Given the description of an element on the screen output the (x, y) to click on. 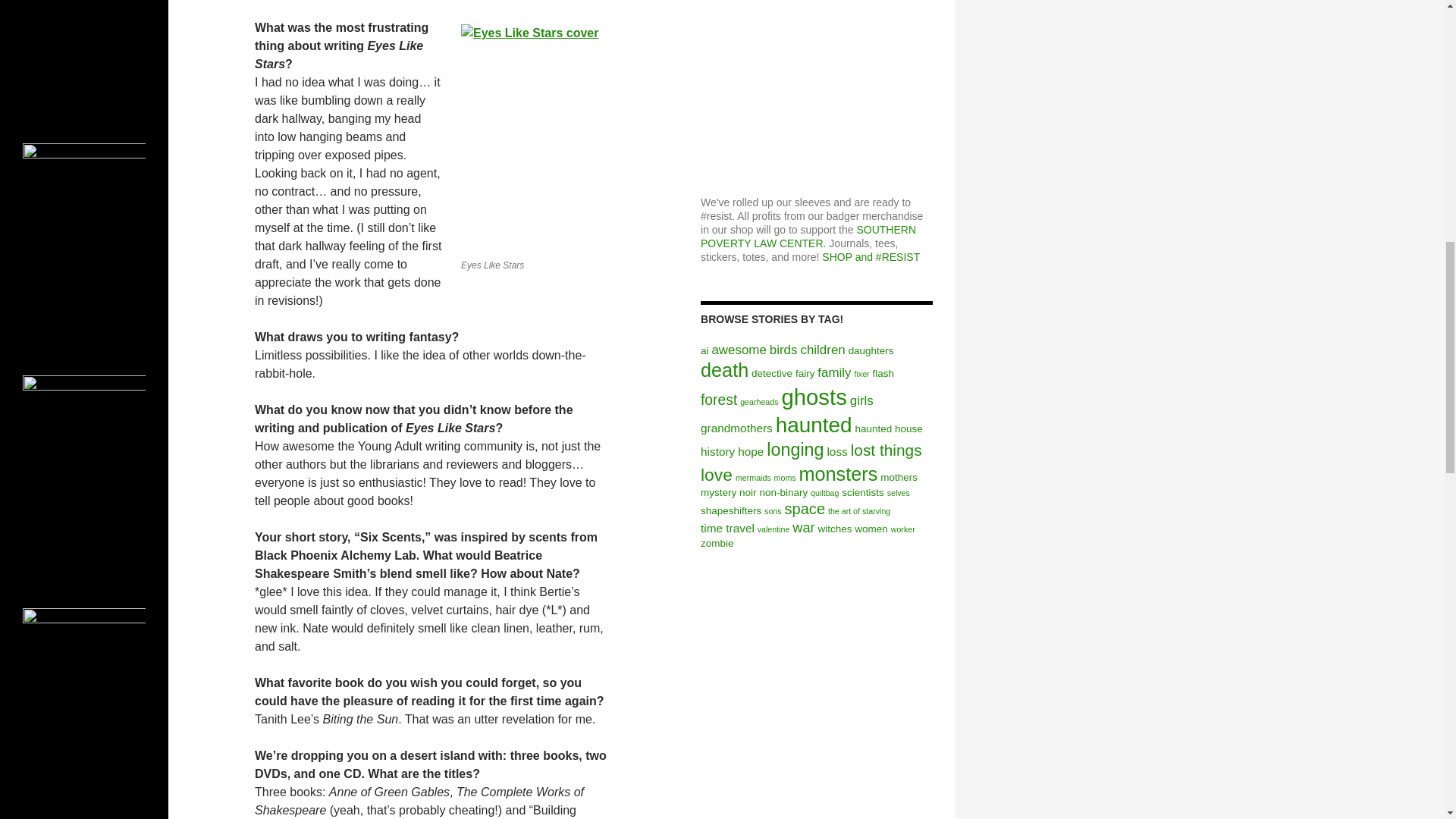
ai (704, 350)
SOUTHERN POVERTY LAW CENTER (807, 236)
awesome (739, 350)
children (821, 350)
birds (783, 350)
